Given the description of an element on the screen output the (x, y) to click on. 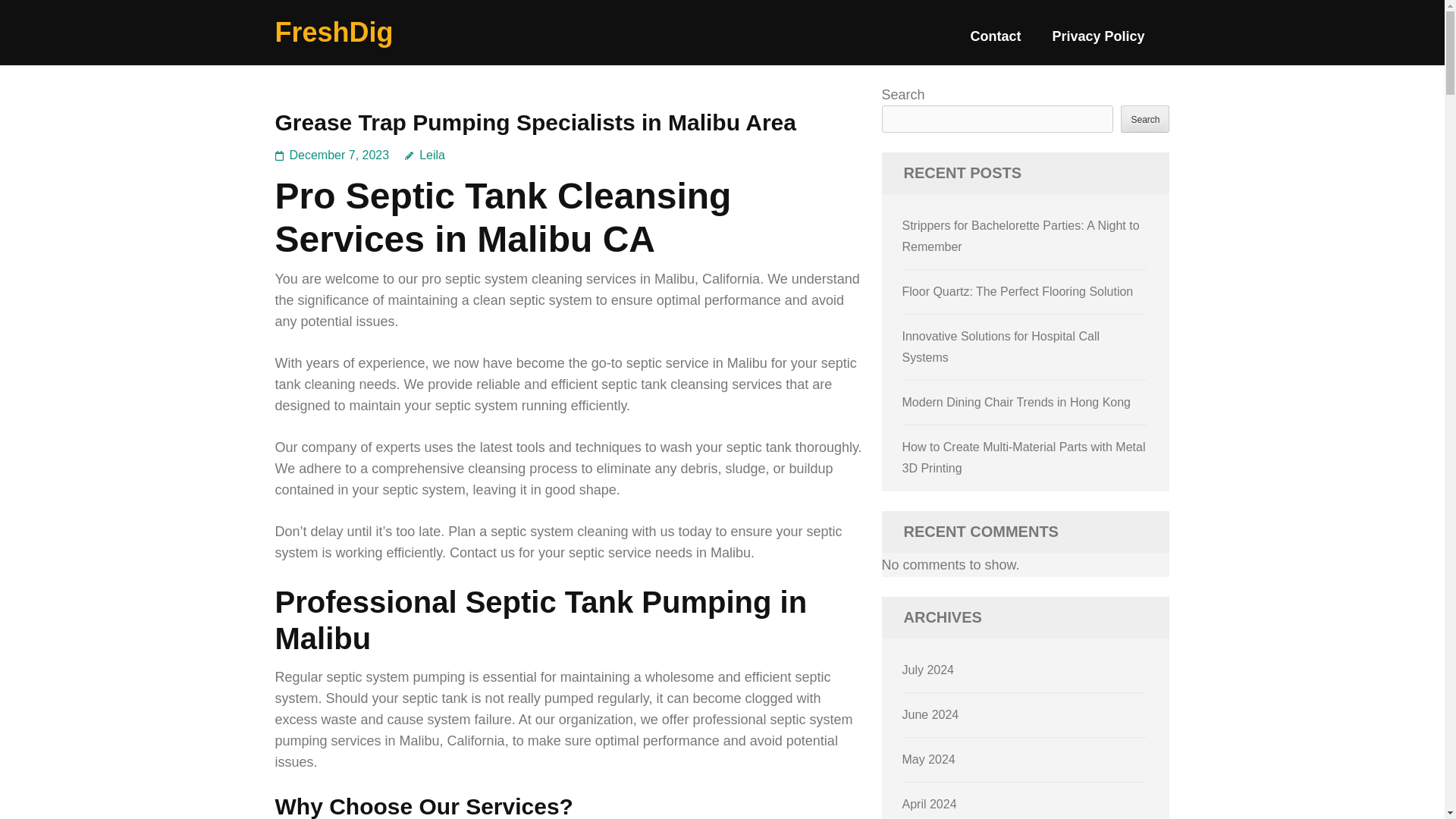
April 2024 (929, 803)
FreshDig (334, 31)
June 2024 (930, 714)
How to Create Multi-Material Parts with Metal 3D Printing (1023, 457)
May 2024 (928, 758)
December 7, 2023 (339, 154)
Privacy Policy (1097, 42)
Leila (424, 154)
Contact (994, 42)
Floor Quartz: The Perfect Flooring Solution (1018, 291)
Search (1145, 118)
July 2024 (928, 669)
Strippers for Bachelorette Parties: A Night to Remember (1021, 236)
Innovative Solutions for Hospital Call Systems (1001, 346)
Modern Dining Chair Trends in Hong Kong (1016, 401)
